Given the description of an element on the screen output the (x, y) to click on. 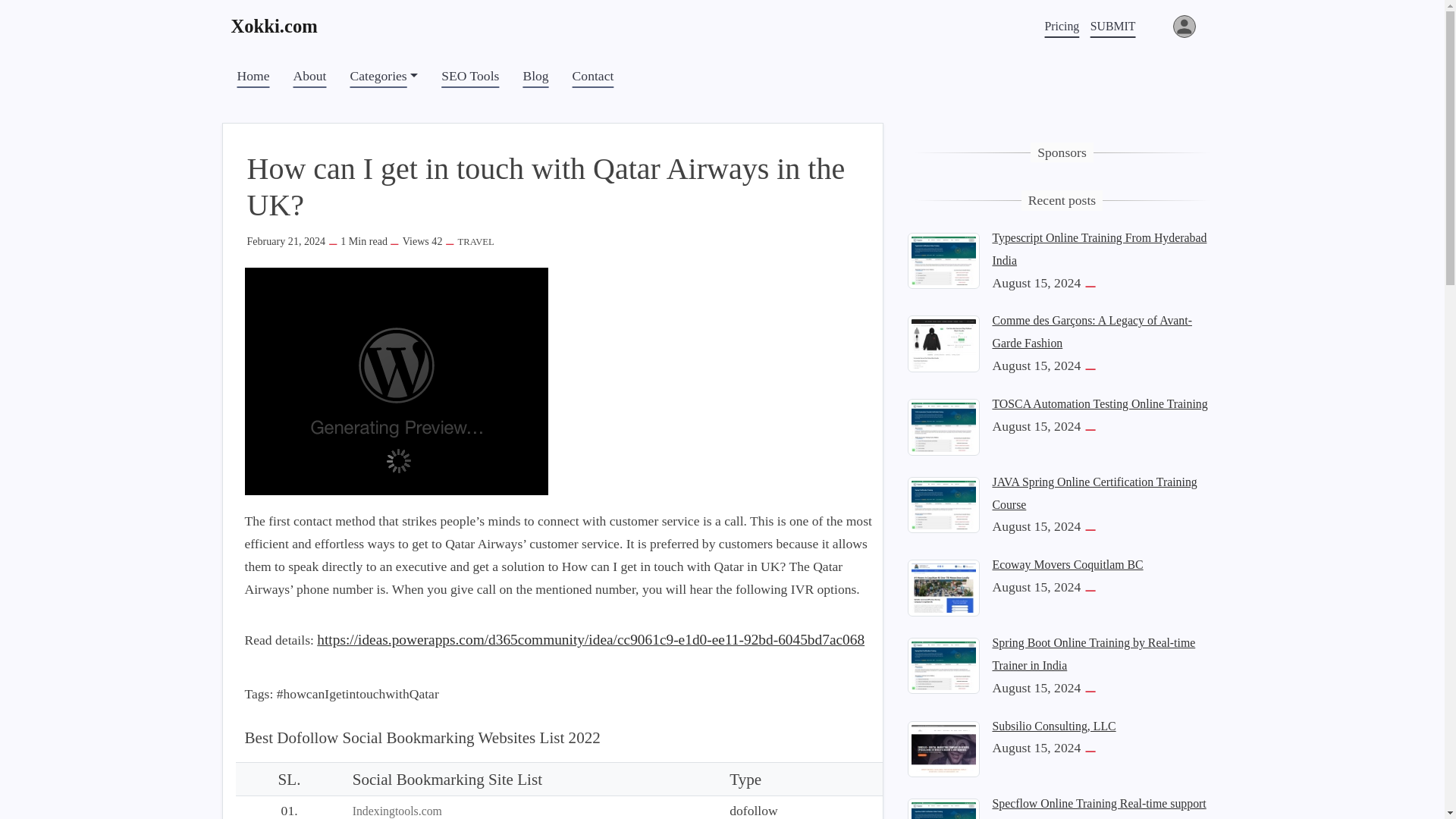
TOSCA Automation Testing Online Training (1099, 403)
Contact (593, 76)
Typescript Online Training From Hyderabad India (1099, 248)
SEO Tools (470, 76)
Blog (535, 76)
Pricing (1062, 25)
About (308, 76)
TOSCA Automation Testing Online Training (943, 425)
Typescript Online Training From Hyderabad India (943, 258)
TRAVEL (476, 241)
